Given the description of an element on the screen output the (x, y) to click on. 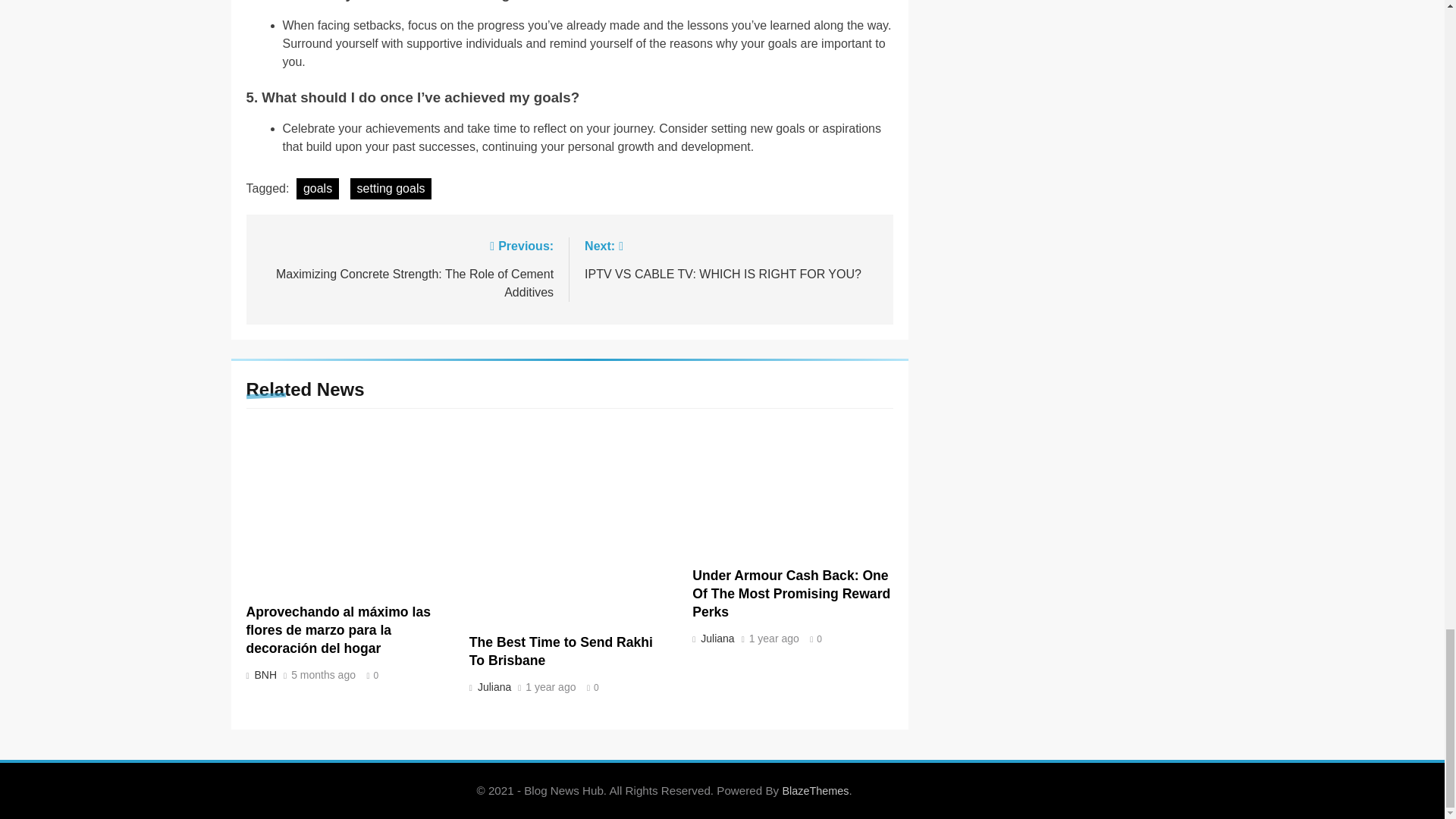
1 year ago (550, 687)
5 months ago (323, 675)
goals (318, 188)
Juliana (492, 686)
setting goals (391, 188)
BNH (731, 258)
The Best Time to Send Rakhi To Brisbane (264, 674)
Juliana (560, 651)
1 year ago (716, 638)
